Given the description of an element on the screen output the (x, y) to click on. 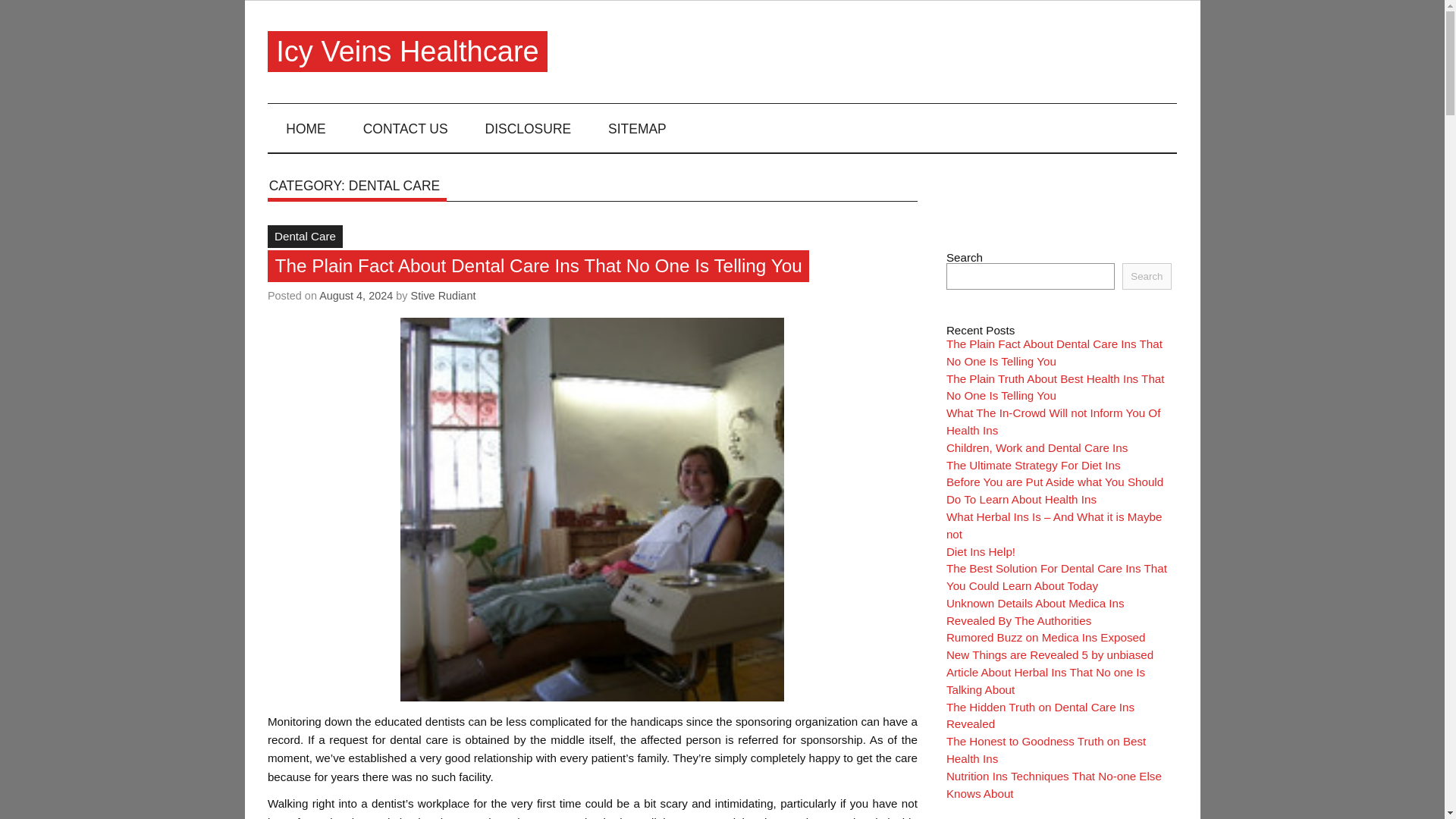
CONTACT US (404, 128)
DISCLOSURE (527, 128)
View all posts by Stive Rudiant (443, 295)
Stive Rudiant (443, 295)
August 4, 2024 (355, 295)
9:21 am (355, 295)
Icy Veins Healthcare (407, 51)
Dental Care (304, 236)
SITEMAP (637, 128)
HOME (305, 128)
